Given the description of an element on the screen output the (x, y) to click on. 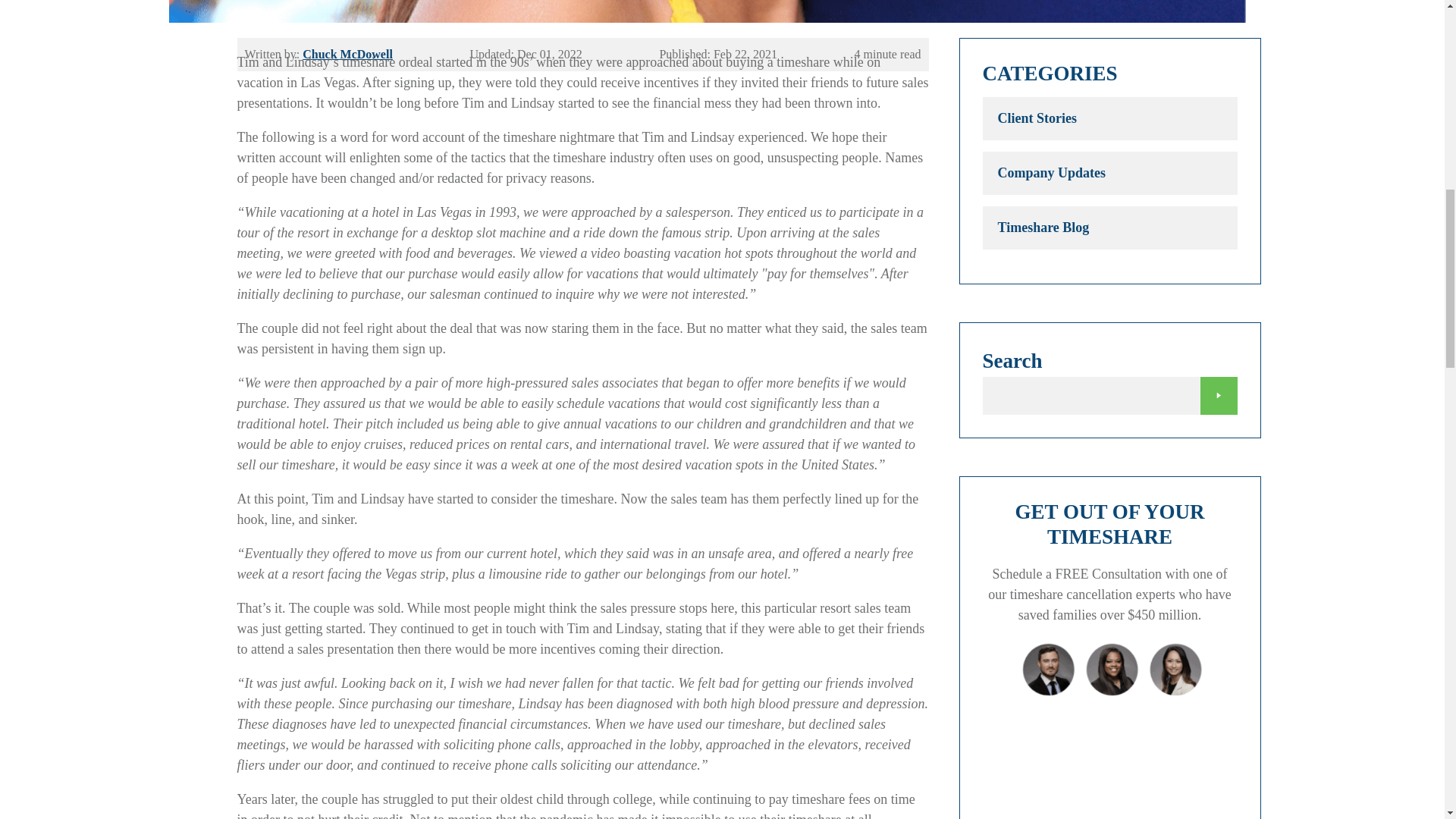
Client Stories (1109, 118)
Search (1217, 395)
Chuck McDowell (347, 53)
Timeshare Blog (1109, 227)
Company Updates (1109, 172)
